Given the description of an element on the screen output the (x, y) to click on. 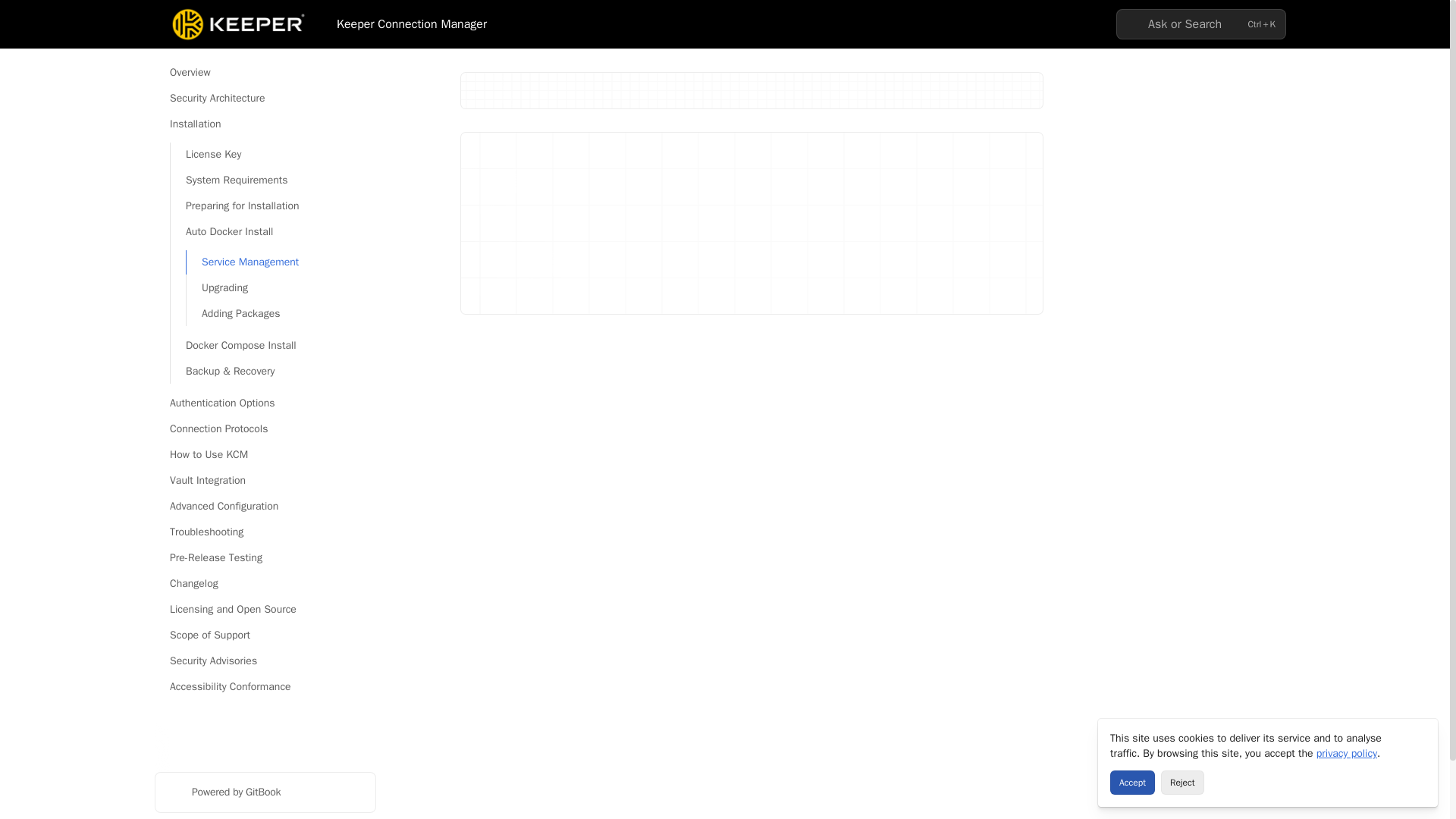
Installation (264, 124)
Service Management (280, 262)
Overview (264, 72)
Preparing for Installation (272, 206)
Docker Compose Install (272, 345)
License Key (272, 154)
Auto Docker Install (272, 232)
Close (1419, 737)
Security Architecture (264, 98)
System Requirements (272, 180)
